Given the description of an element on the screen output the (x, y) to click on. 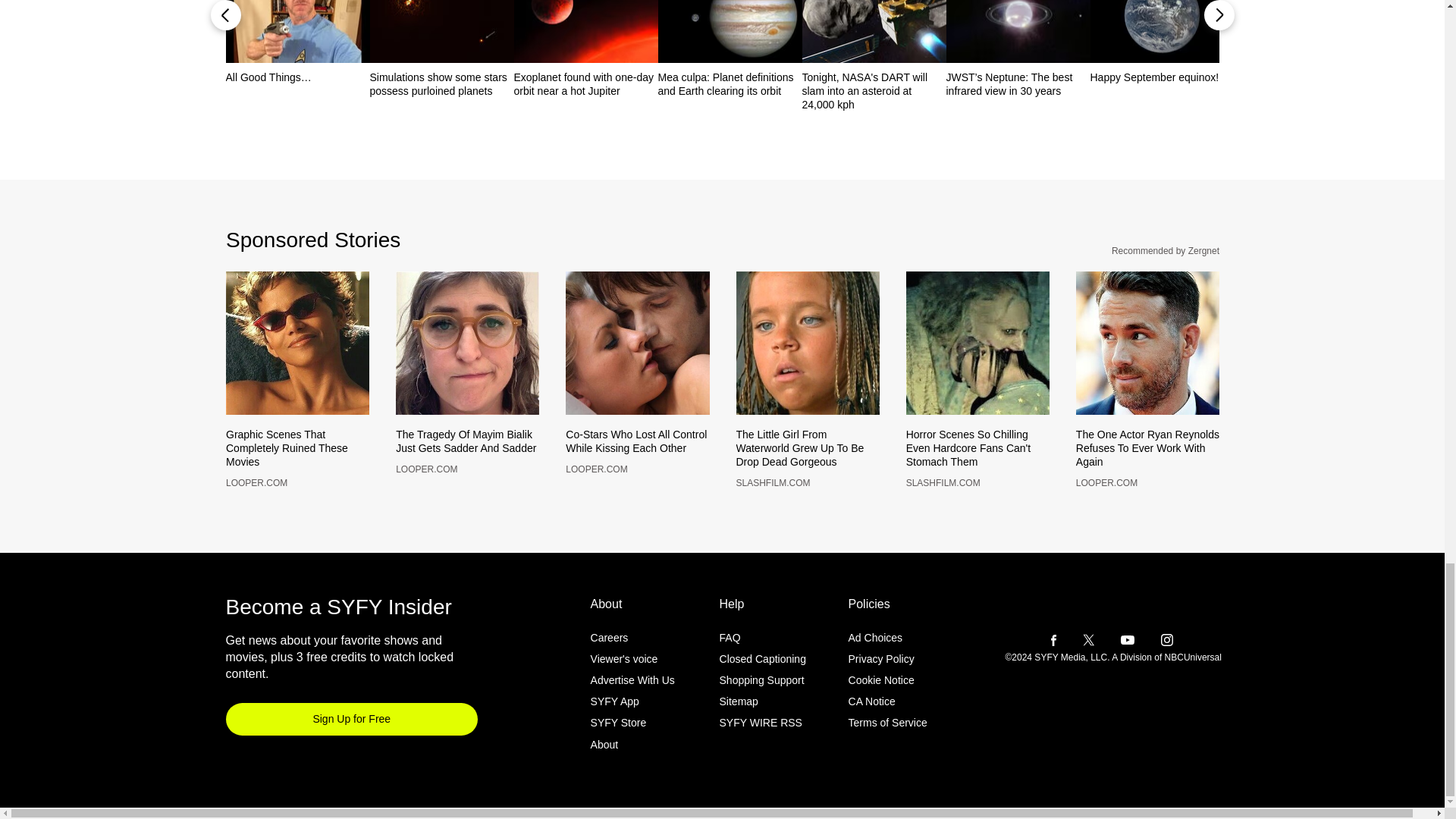
Exoplanet found with one-day orbit near a hot Jupiter (585, 83)
Mea culpa: Planet definitions and Earth clearing its orbit (730, 83)
Advertise With Us (633, 705)
Simulations show some stars possess purloined planets (441, 83)
